Given the description of an element on the screen output the (x, y) to click on. 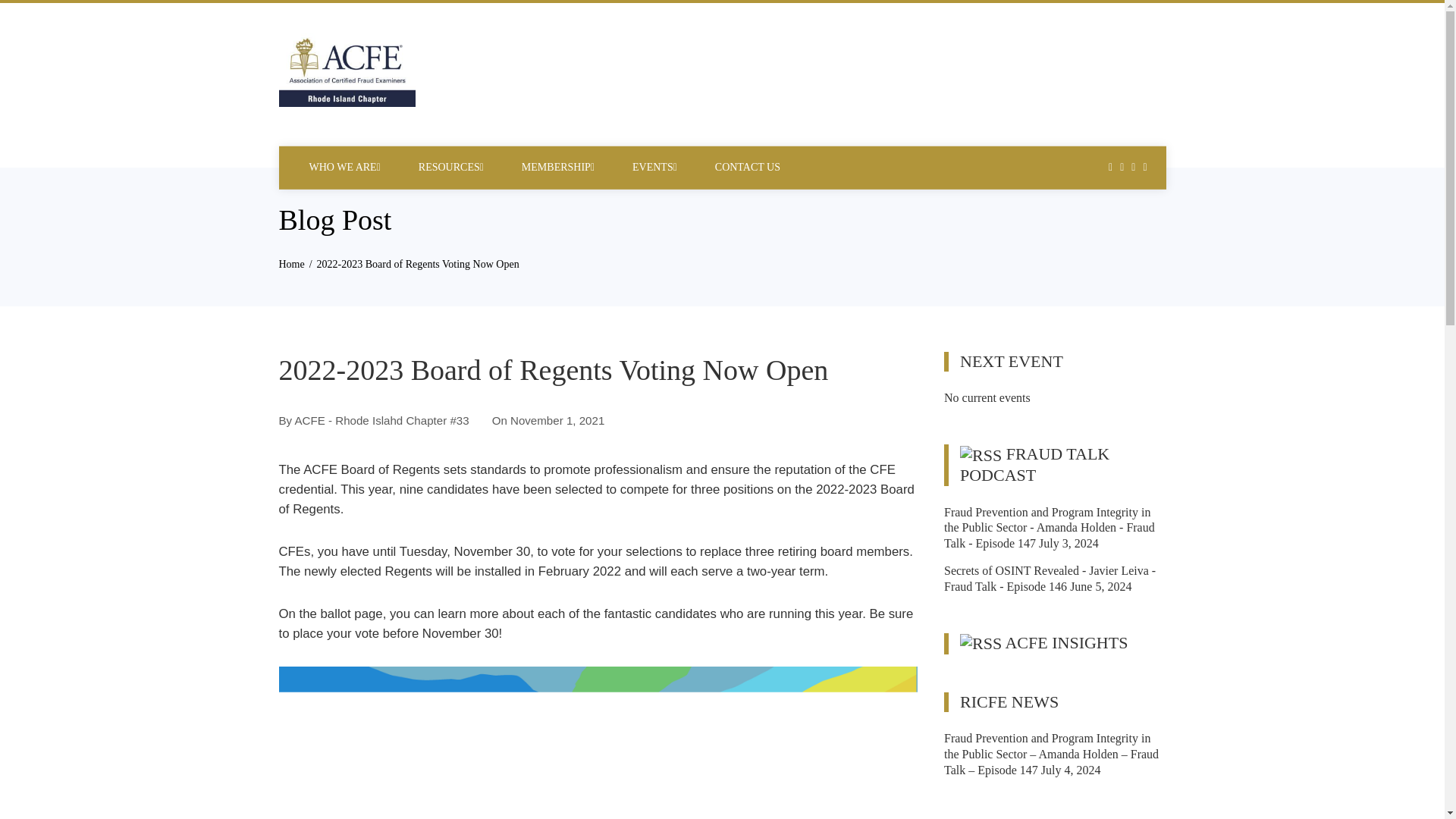
MEMBERSHIP (558, 166)
EVENTS (655, 166)
WHO WE ARE (345, 166)
CONTACT US (747, 166)
RESOURCES (451, 166)
